Given the description of an element on the screen output the (x, y) to click on. 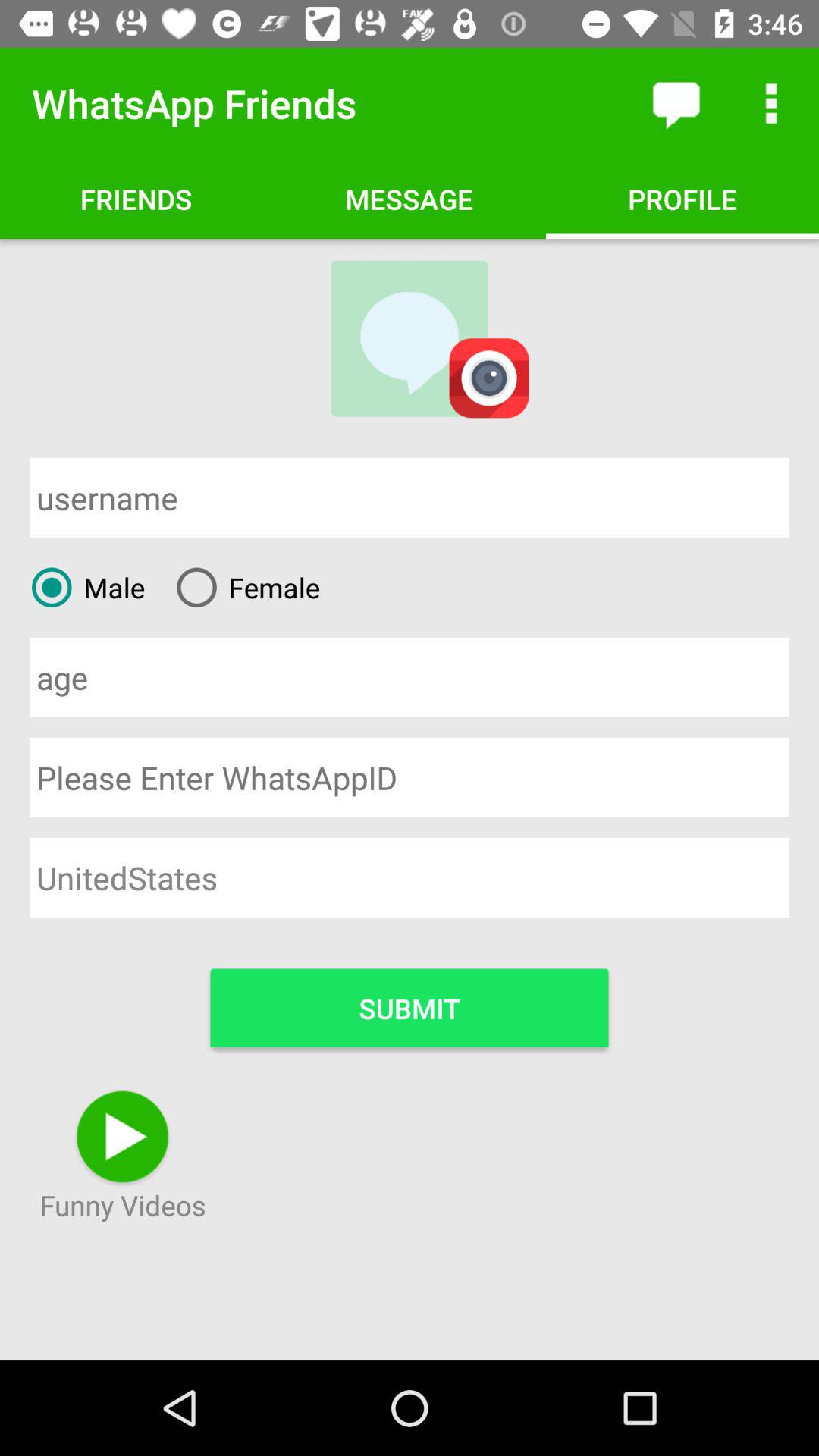
scroll until the female icon (242, 587)
